Given the description of an element on the screen output the (x, y) to click on. 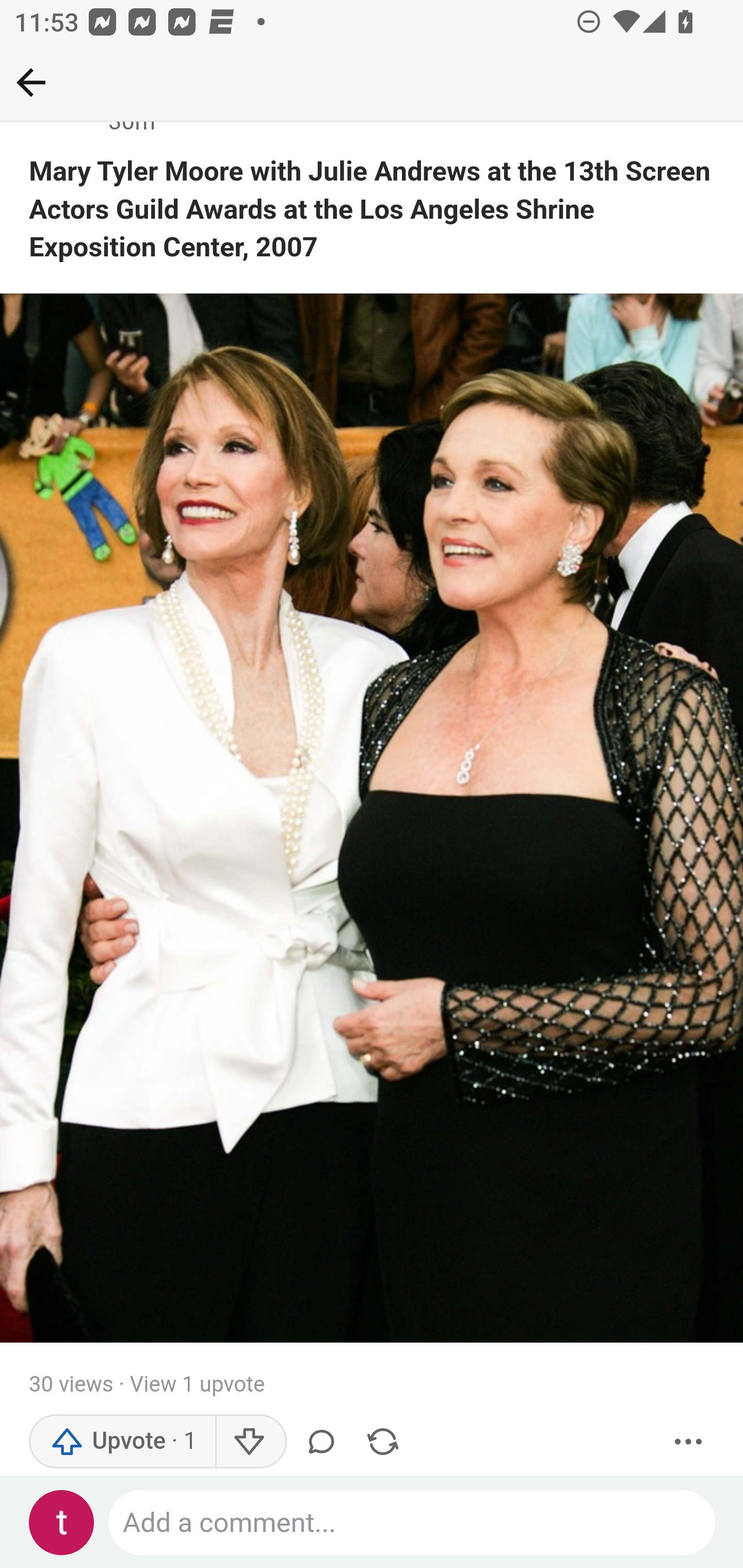
Back (30, 82)
View 1 upvote (196, 1384)
Upvote (122, 1442)
Downvote (249, 1442)
Comment (324, 1442)
Share (382, 1442)
More (688, 1442)
Profile photo for Test Appium (61, 1523)
Add a comment... (412, 1523)
